Given the description of an element on the screen output the (x, y) to click on. 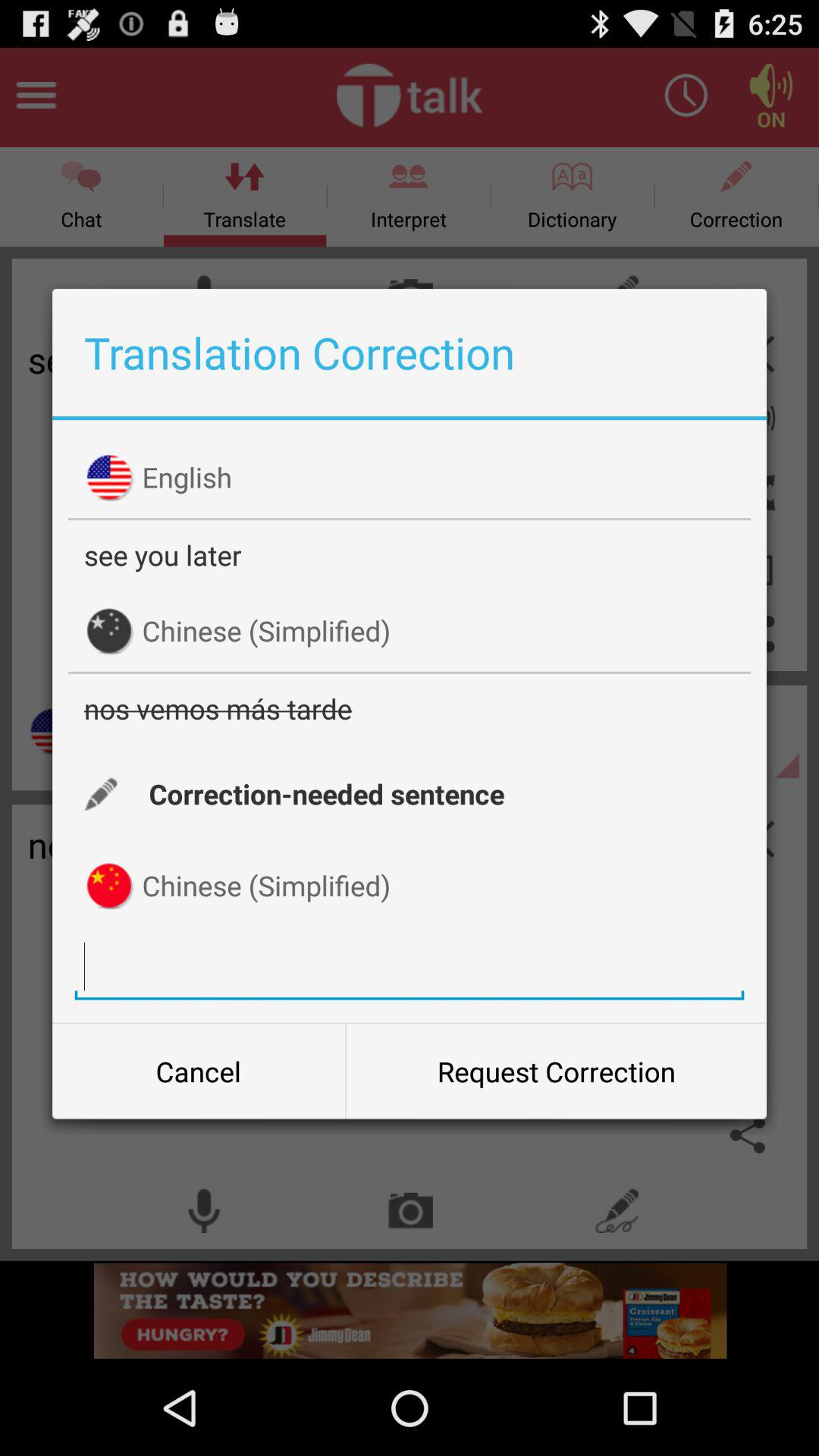
scroll to the cancel button (198, 1071)
